Given the description of an element on the screen output the (x, y) to click on. 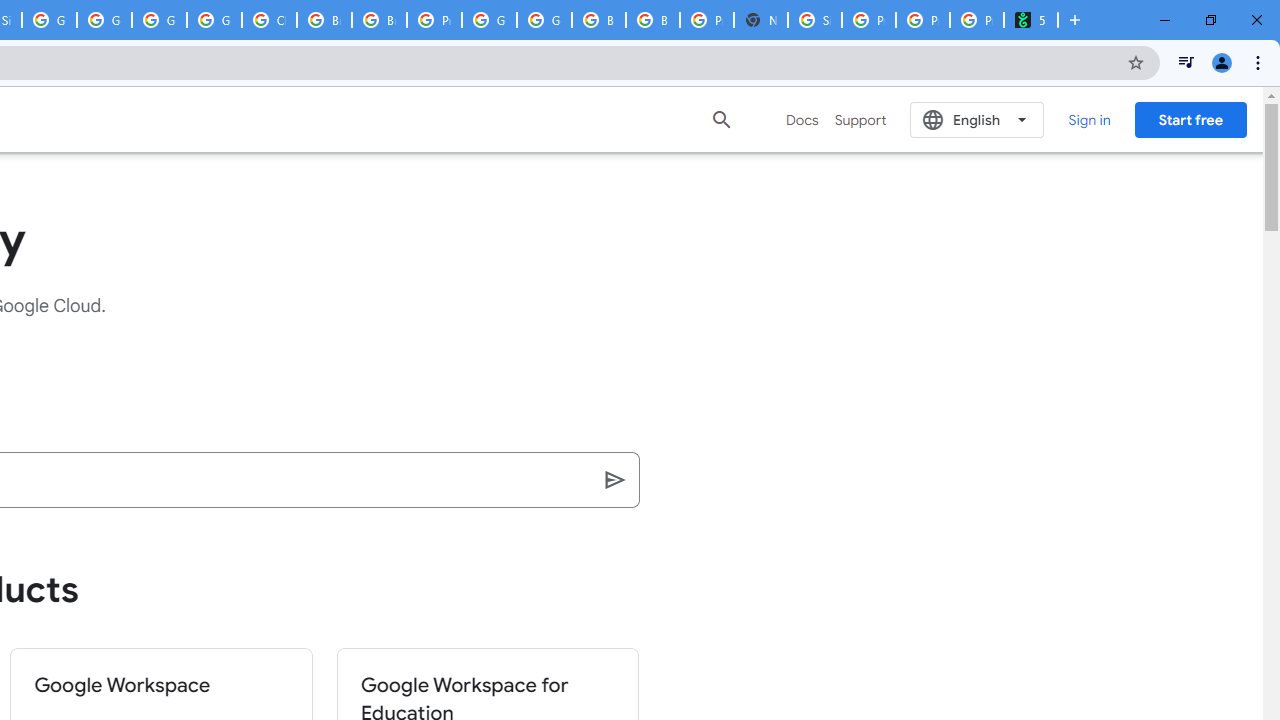
Support (860, 119)
Google Cloud Platform (544, 20)
Docs (802, 119)
